Given the description of an element on the screen output the (x, y) to click on. 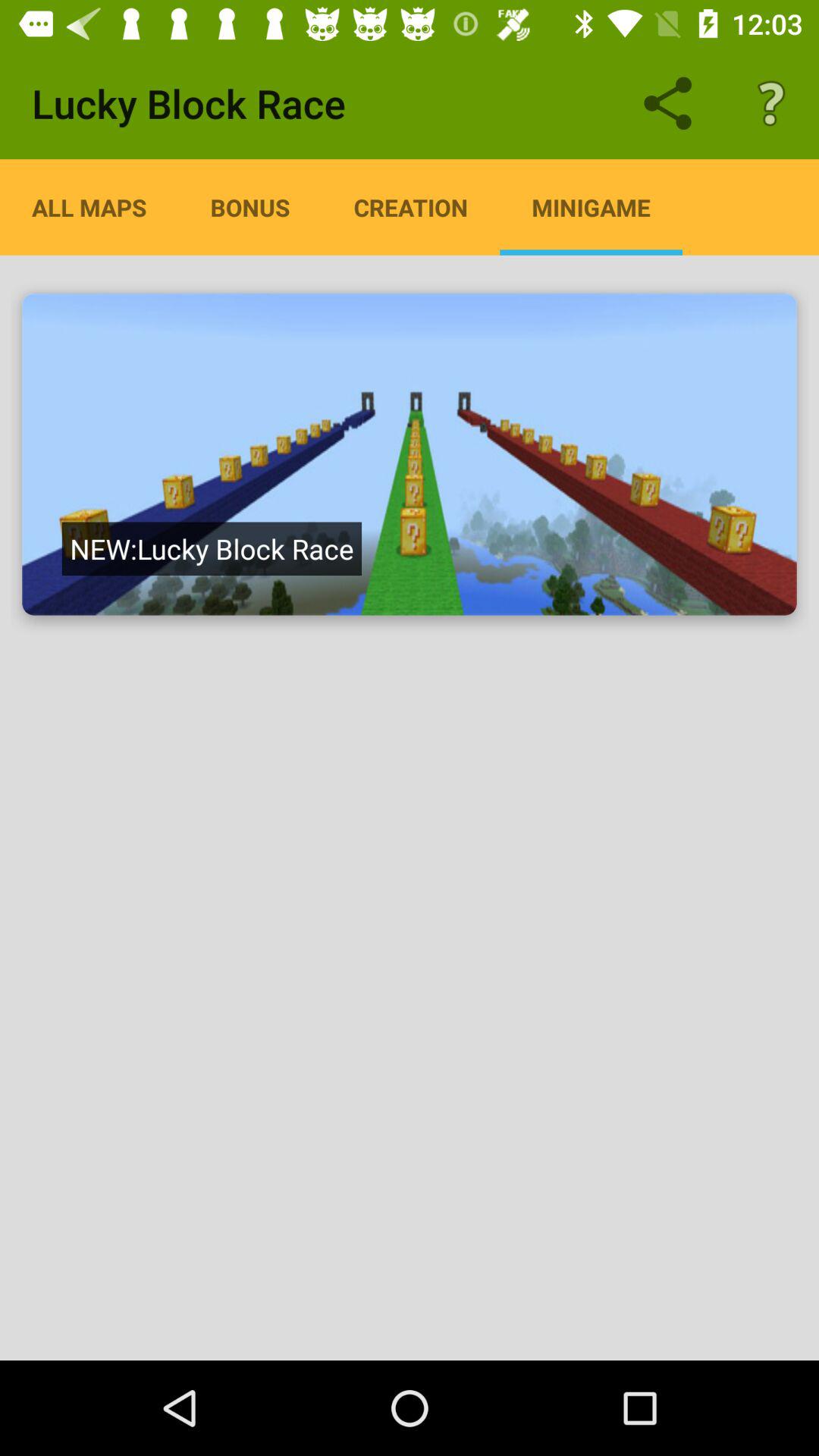
turn on item below the lucky block race (410, 207)
